Given the description of an element on the screen output the (x, y) to click on. 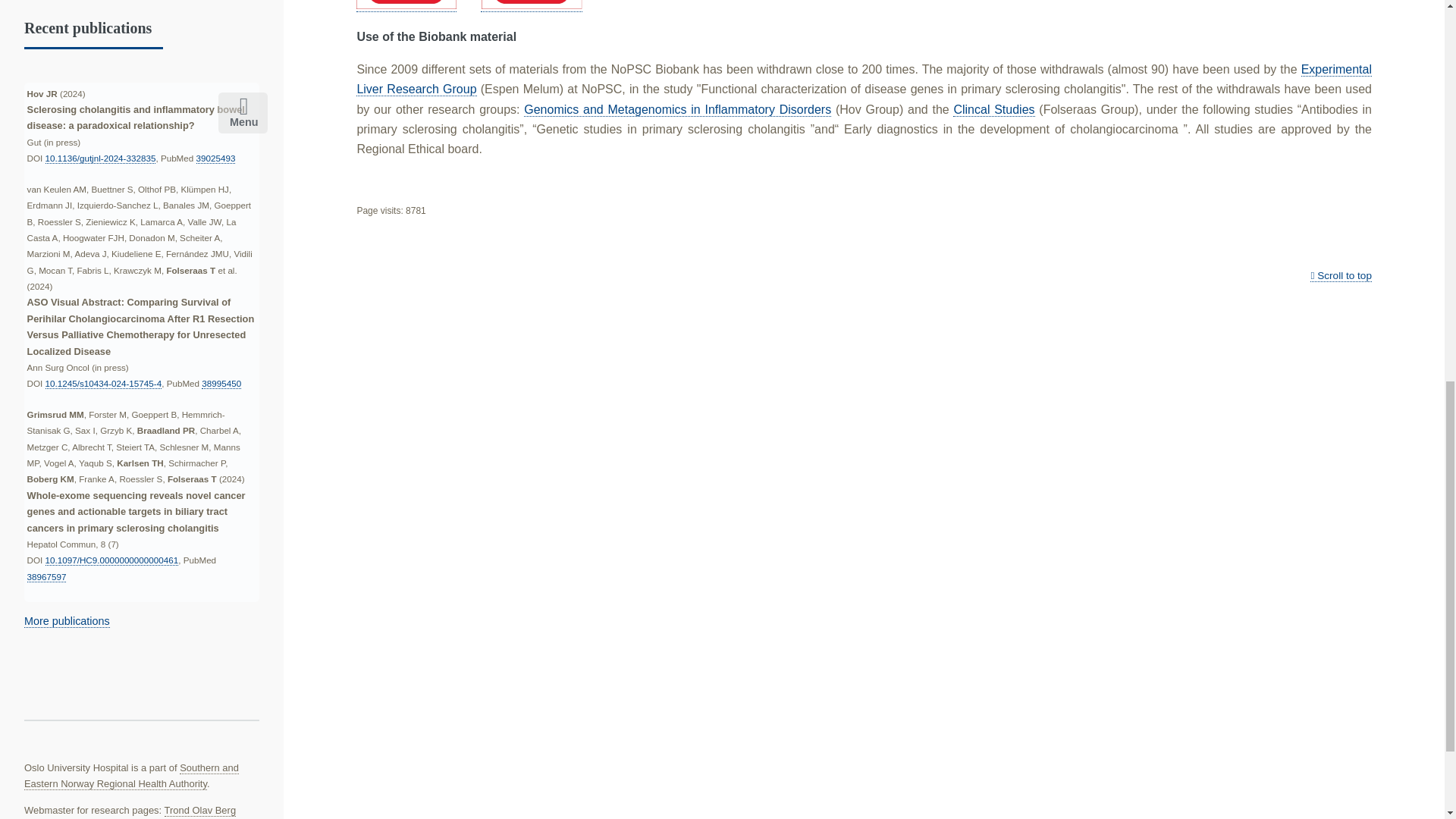
Clincal Studies (993, 110)
More publications (67, 621)
Scroll to top (1340, 275)
Experimental Liver Research Group (863, 79)
38995450 (221, 383)
Genomics and Metagenomics in Inflammatory Disorders (677, 110)
39025493 (215, 158)
38967597 (46, 576)
